Given the description of an element on the screen output the (x, y) to click on. 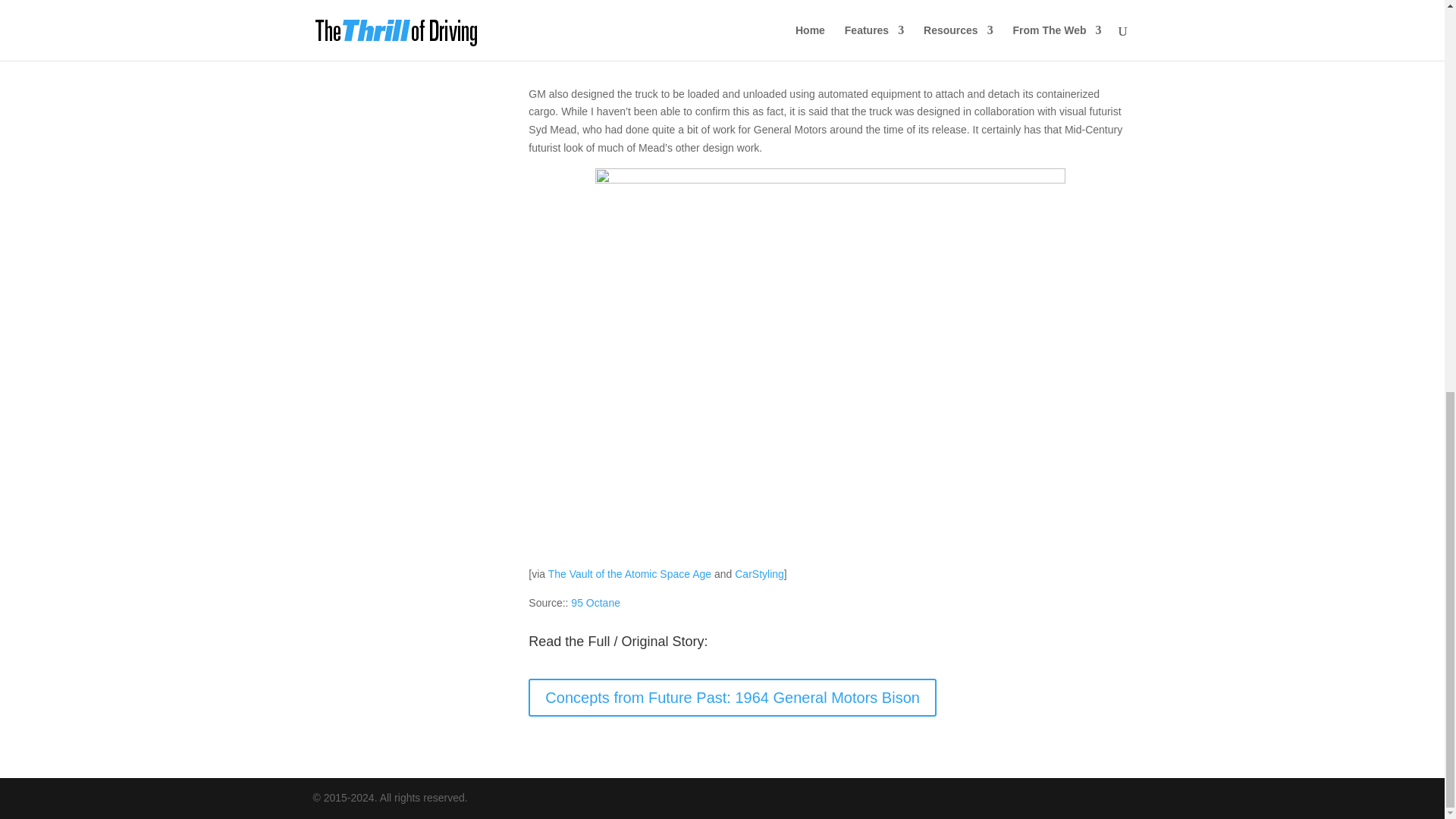
CarStyling (759, 573)
95 Octane (595, 603)
Concepts from Future Past: 1964 General Motors Bison (732, 697)
Concepts from Future Past: 1964 General Motors Bison (595, 603)
The Vault of the Atomic Space Age (629, 573)
